Given the description of an element on the screen output the (x, y) to click on. 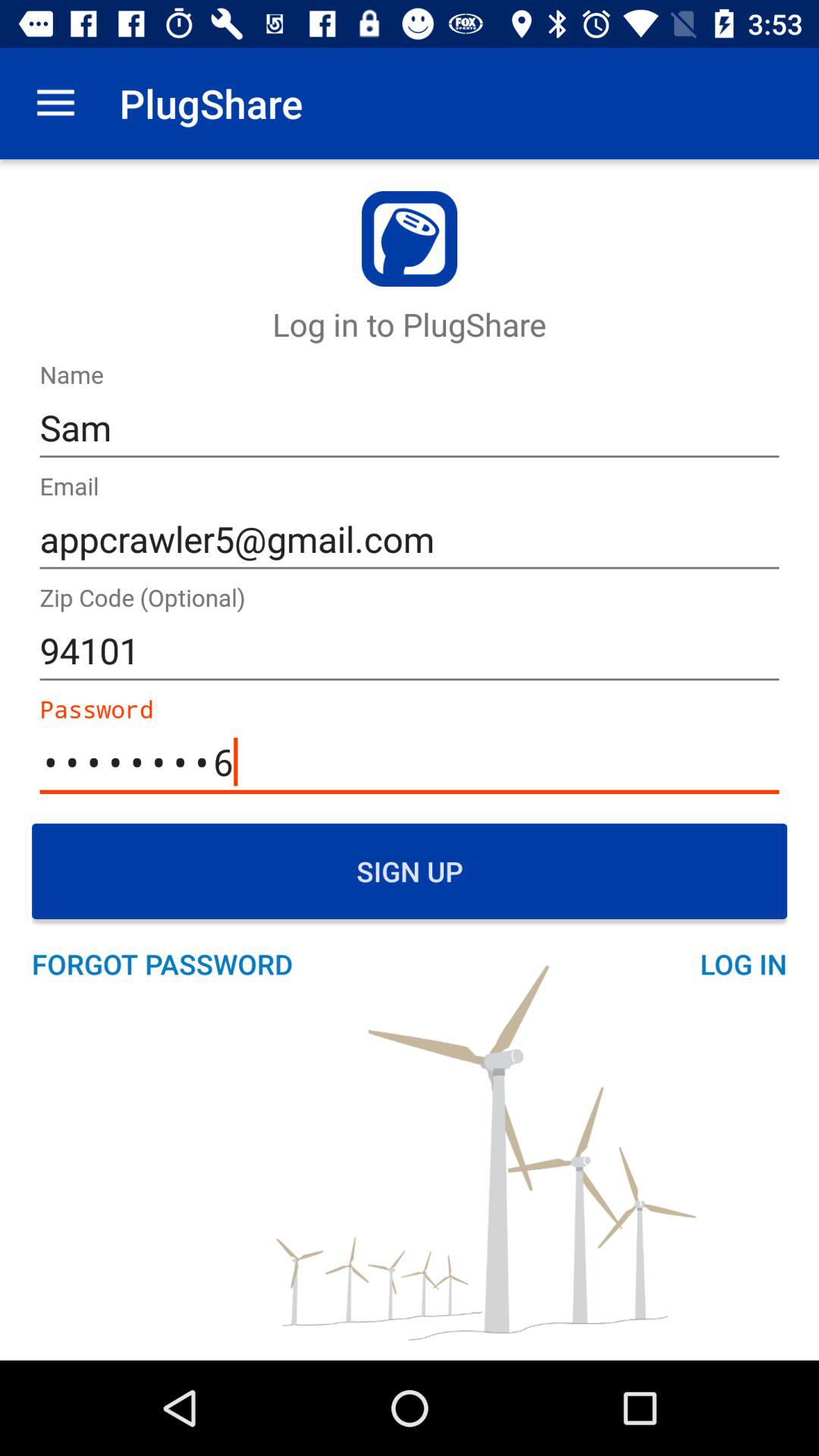
scroll until the appcrawler5@gmail.com (409, 539)
